Given the description of an element on the screen output the (x, y) to click on. 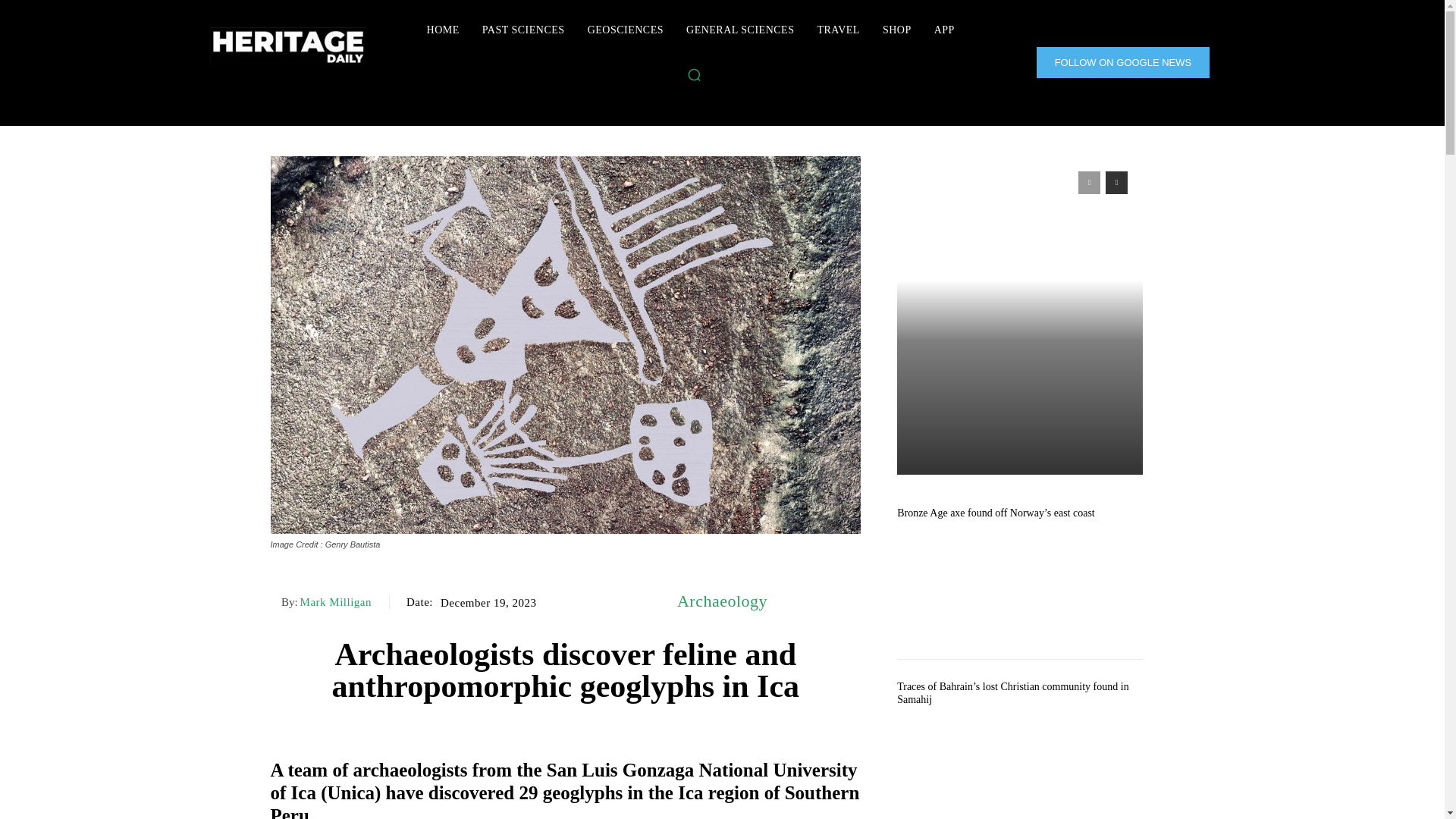
FOLLOW ON GOOGLE NEWS (1122, 61)
PAST SCIENCES (523, 30)
